Given the description of an element on the screen output the (x, y) to click on. 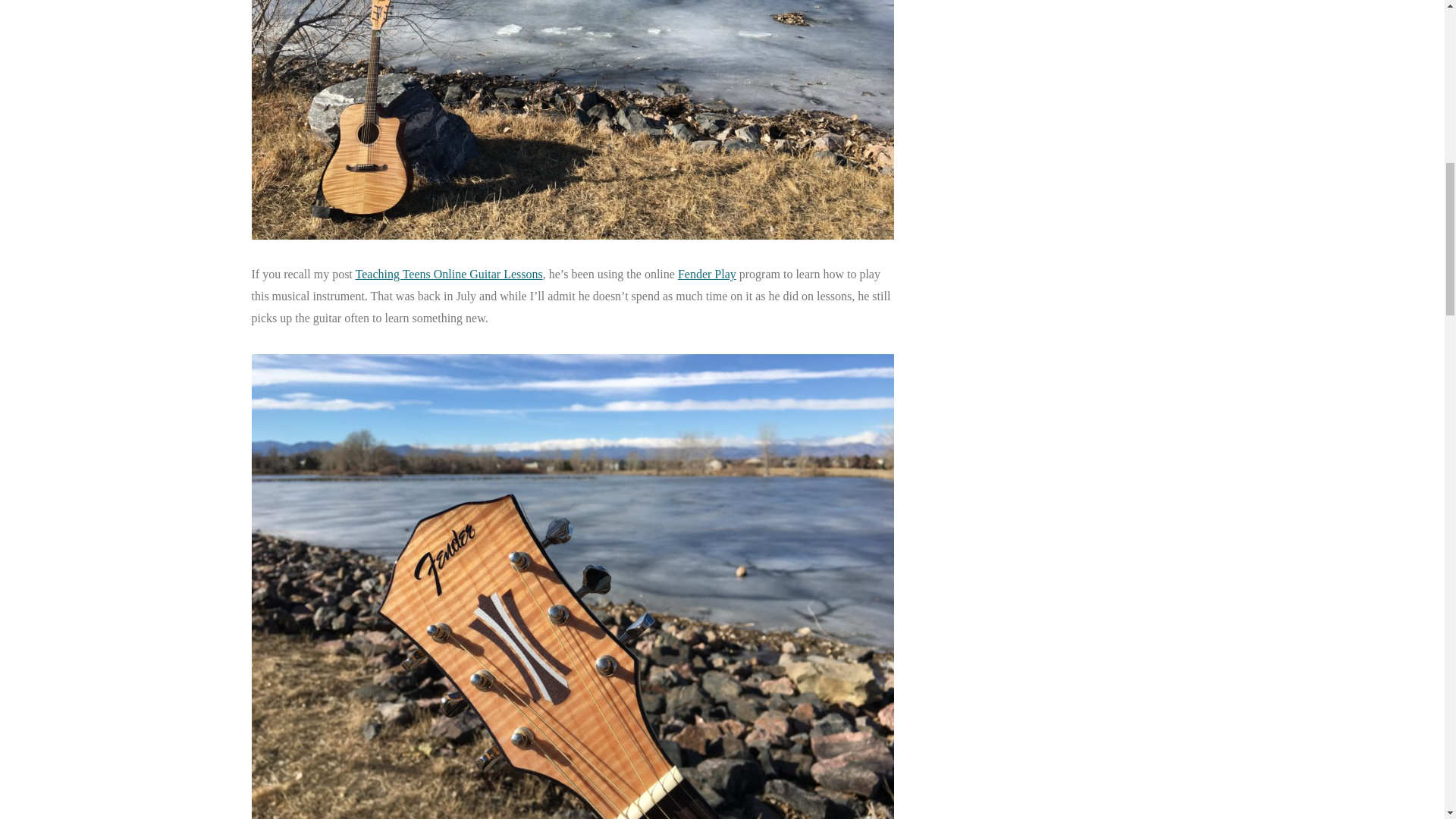
Teaching Teens Online Guitar Lessons (449, 273)
Fender Play (707, 273)
